Given the description of an element on the screen output the (x, y) to click on. 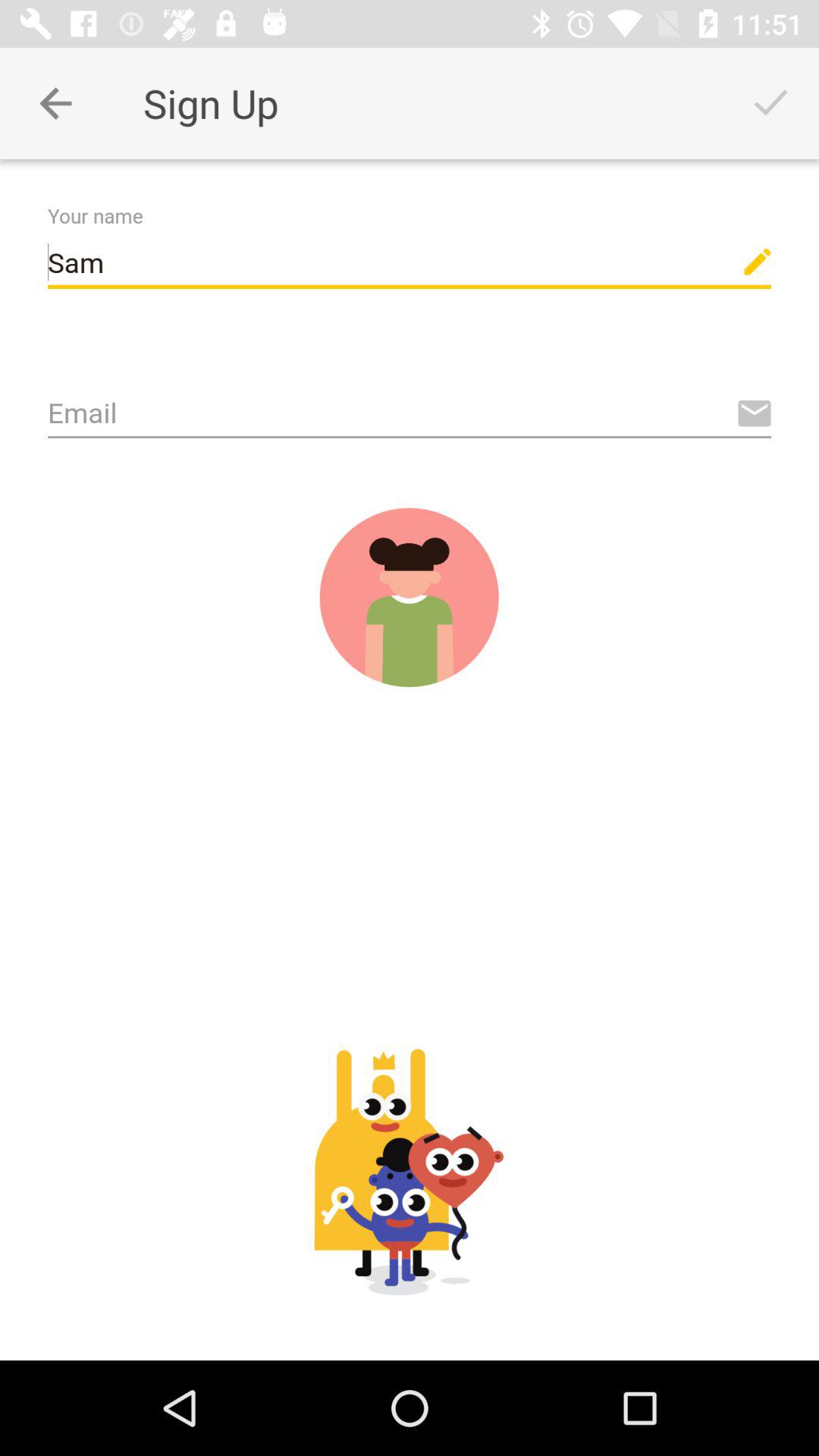
go back (55, 103)
